Given the description of an element on the screen output the (x, y) to click on. 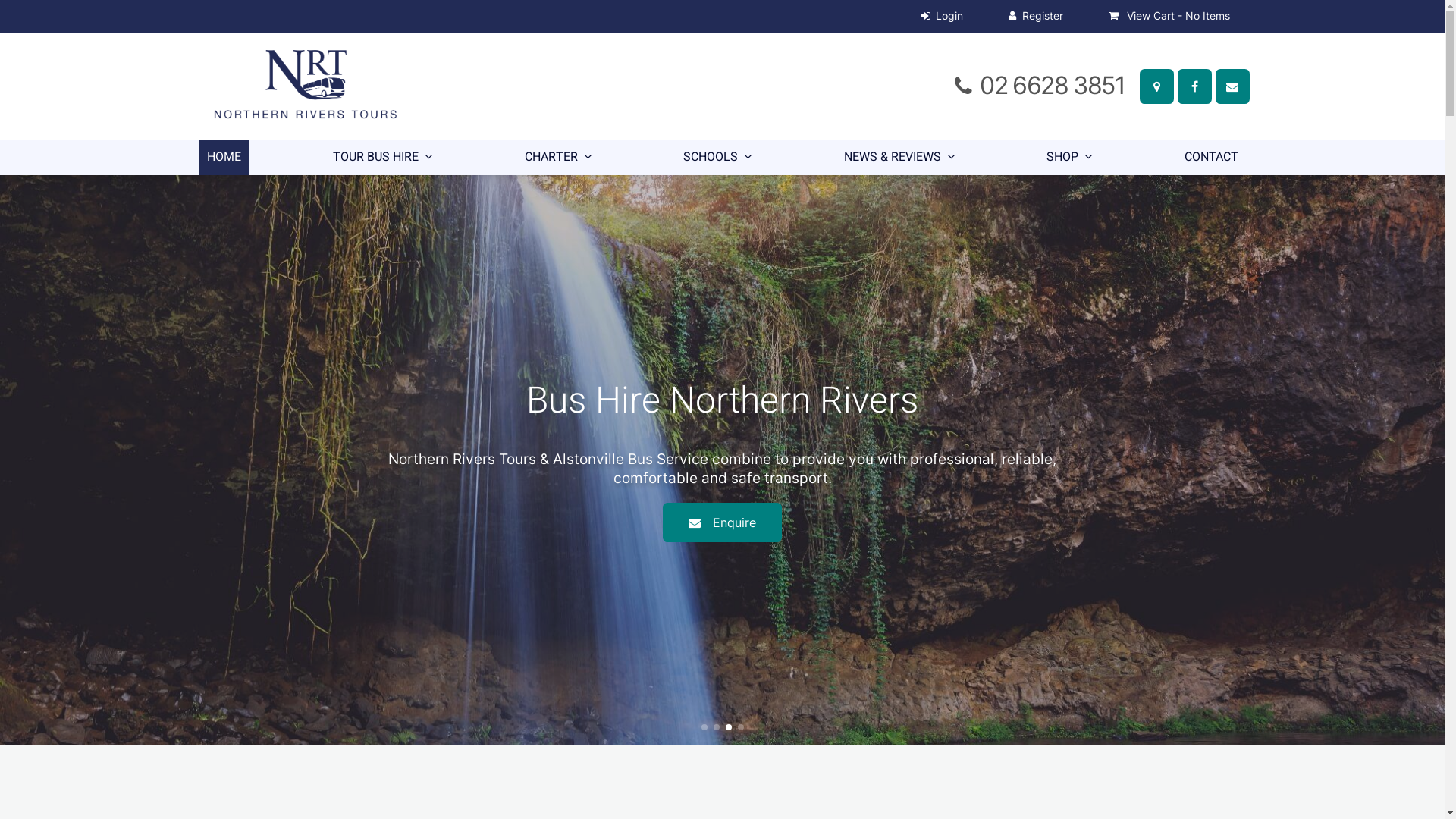
CHARTER Element type: text (558, 157)
SCHOOLS Element type: text (717, 157)
Enquire Element type: text (721, 522)
SHOP Element type: text (1068, 157)
CONTACT Element type: text (1210, 157)
TOUR BUS HIRE Element type: text (382, 157)
02 6628 3851 Element type: text (1051, 85)
View Cart - No Items Element type: text (1169, 16)
HOME Element type: text (222, 157)
NEWS & REVIEWS Element type: text (898, 157)
